Given the description of an element on the screen output the (x, y) to click on. 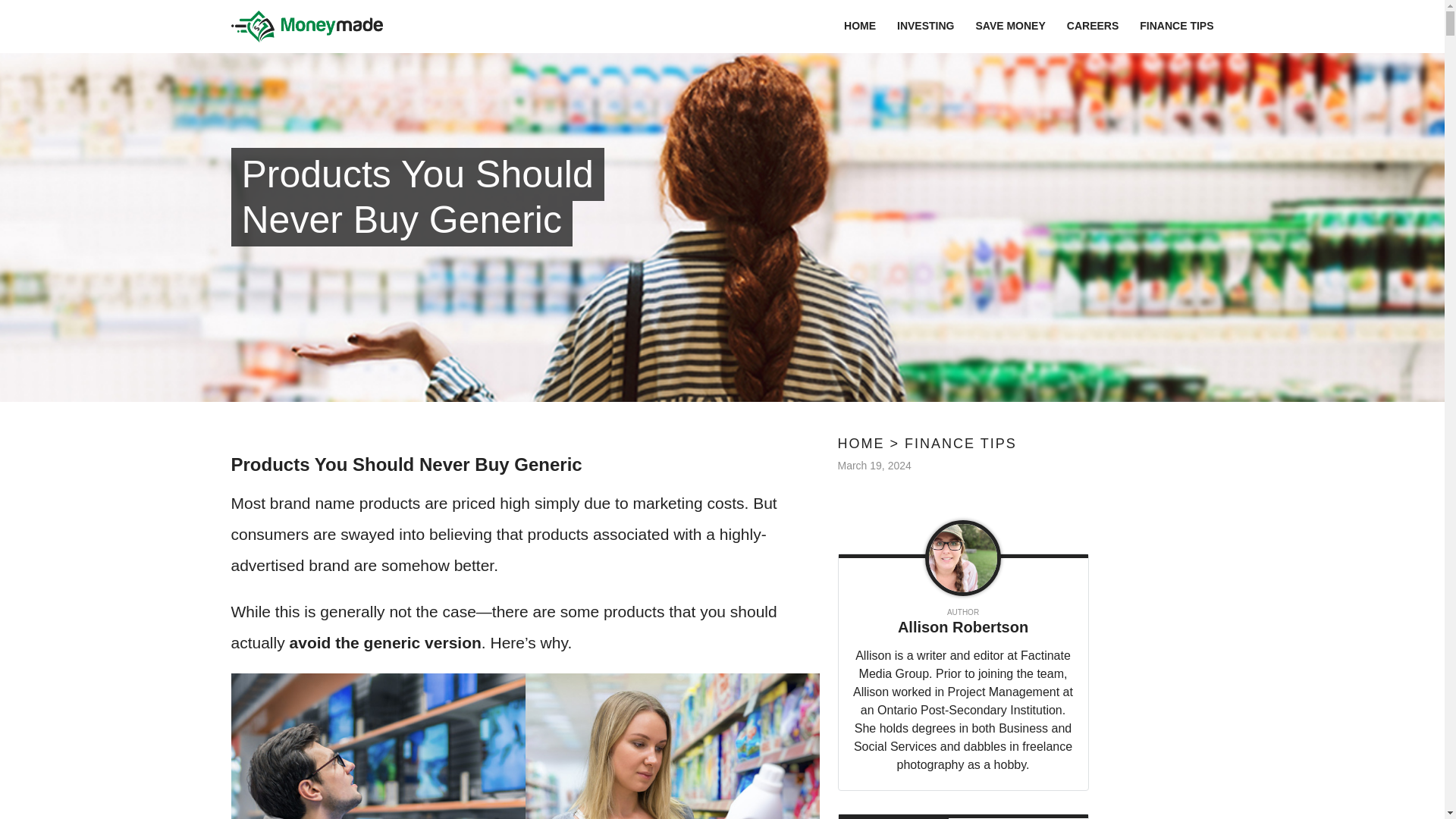
INVESTING (924, 26)
Products You Should Never Buy Generic (451, 199)
SAVE MONEY (1010, 26)
CAREERS (1092, 26)
FINANCE TIPS (1176, 26)
HOME (860, 26)
